Given the description of an element on the screen output the (x, y) to click on. 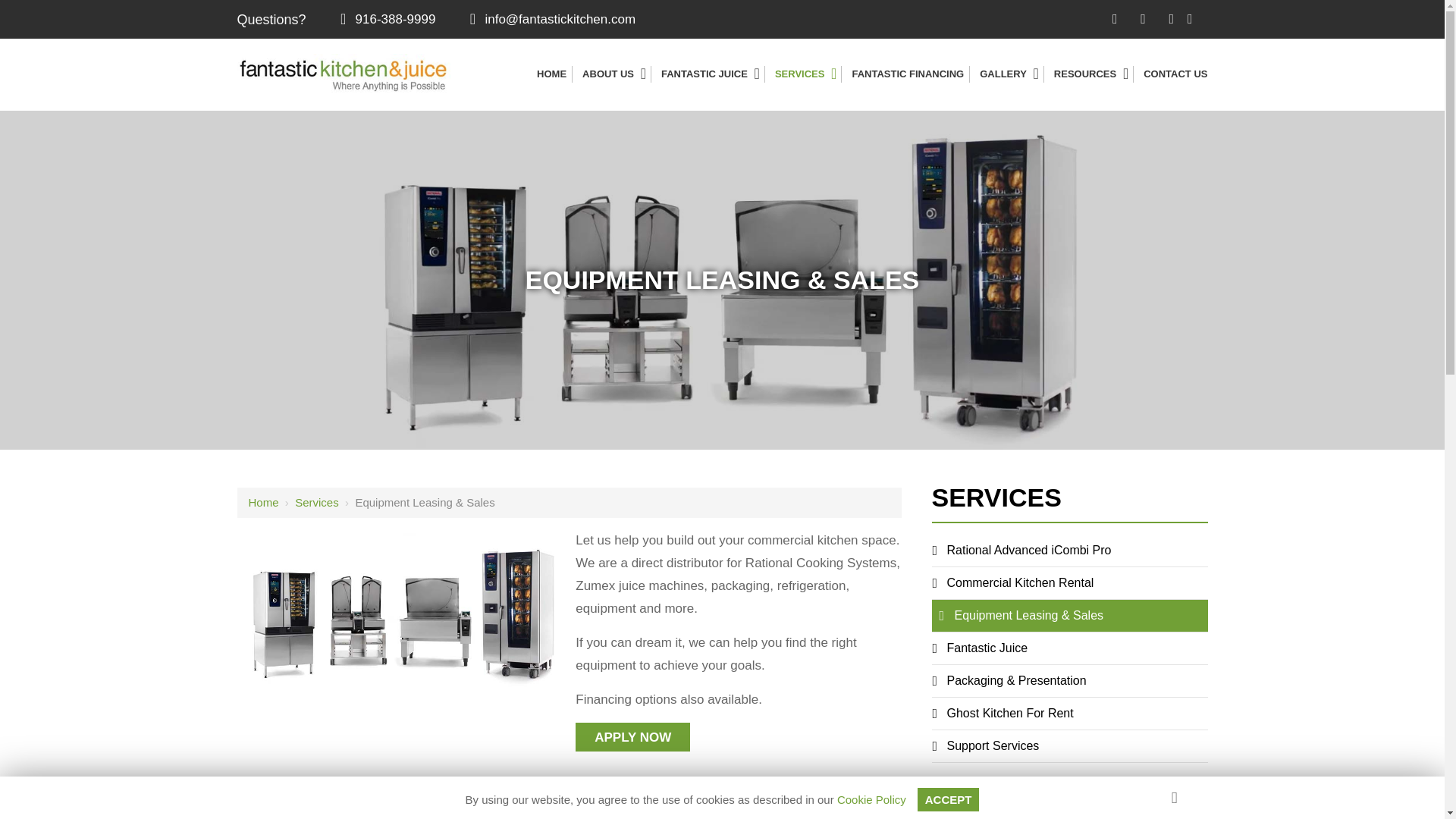
HOME (551, 74)
FANTASTIC JUICE (704, 74)
FANTASTIC FINANCING (907, 74)
SERVICES (799, 74)
GALLERY (1003, 74)
ABOUT US (608, 74)
916-388-9999 (385, 19)
RESOURCES (1085, 74)
